Given the description of an element on the screen output the (x, y) to click on. 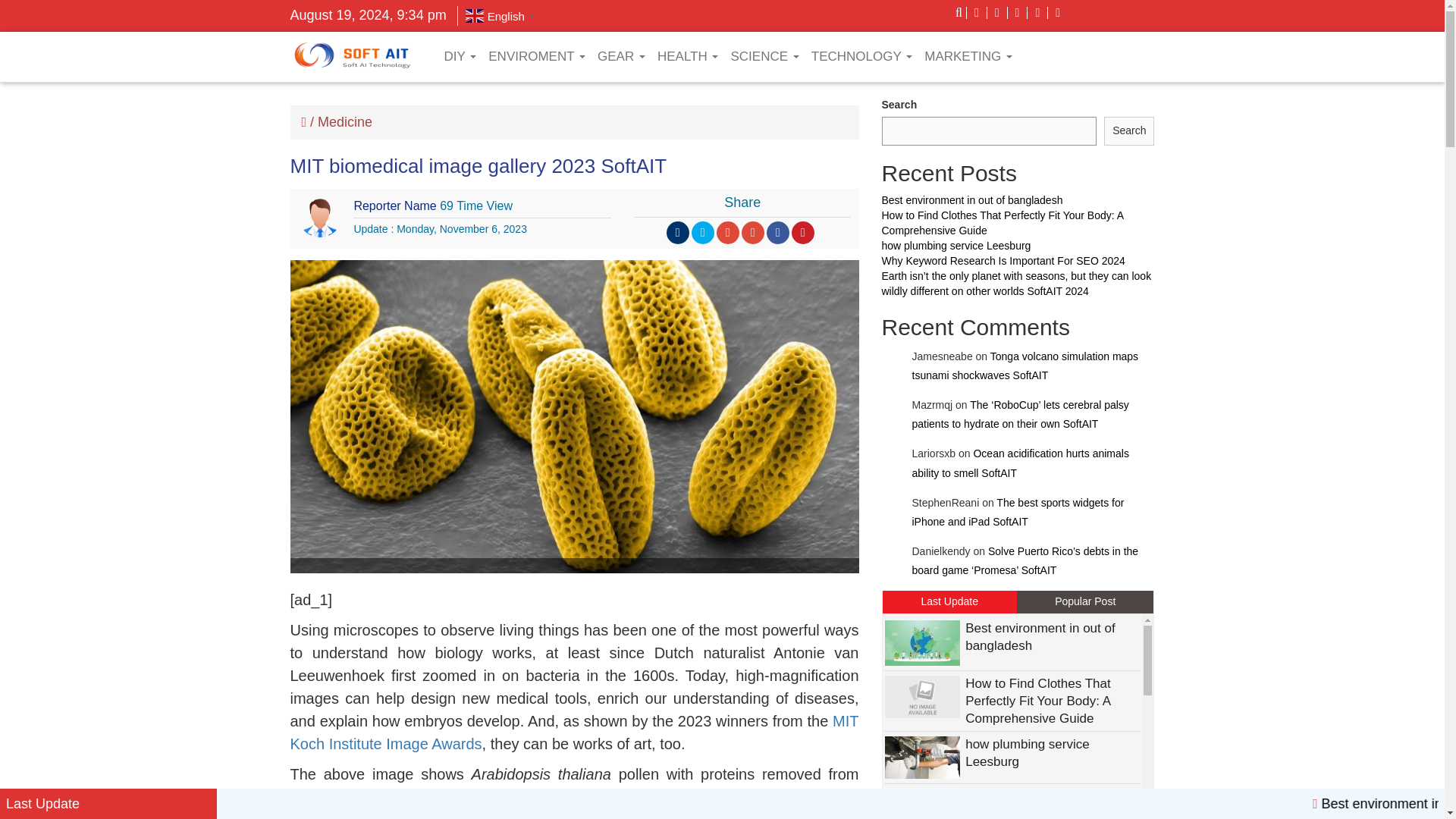
GEAR (620, 56)
DIY (460, 56)
ENVIROMENT (536, 56)
GEAR (620, 56)
ENVIROMENT (536, 56)
DIY (460, 56)
Last Update (108, 803)
